Given the description of an element on the screen output the (x, y) to click on. 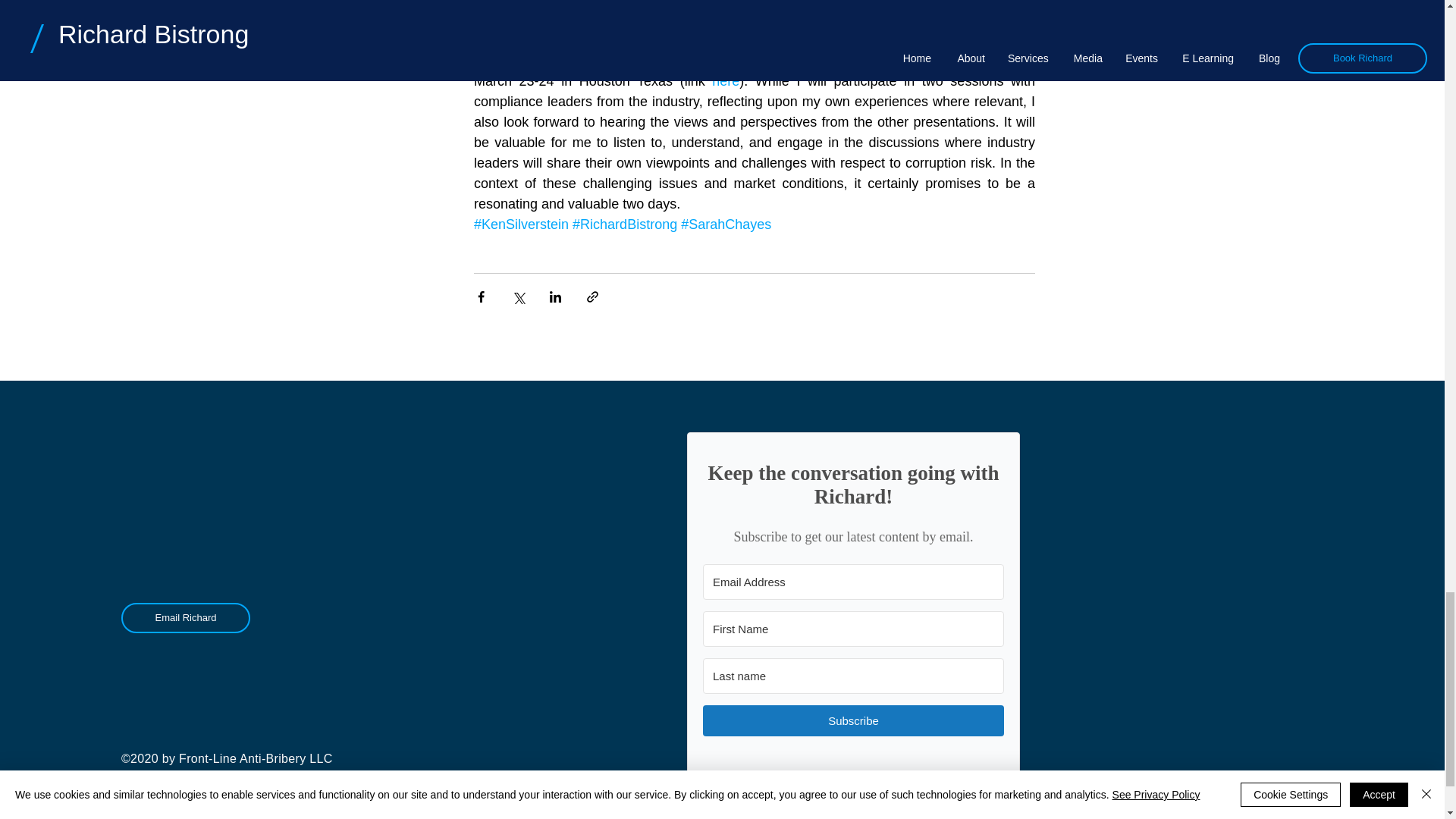
here (725, 80)
Email Richard (185, 617)
Embedded Content (853, 616)
Privacy Policy (181, 793)
